Given the description of an element on the screen output the (x, y) to click on. 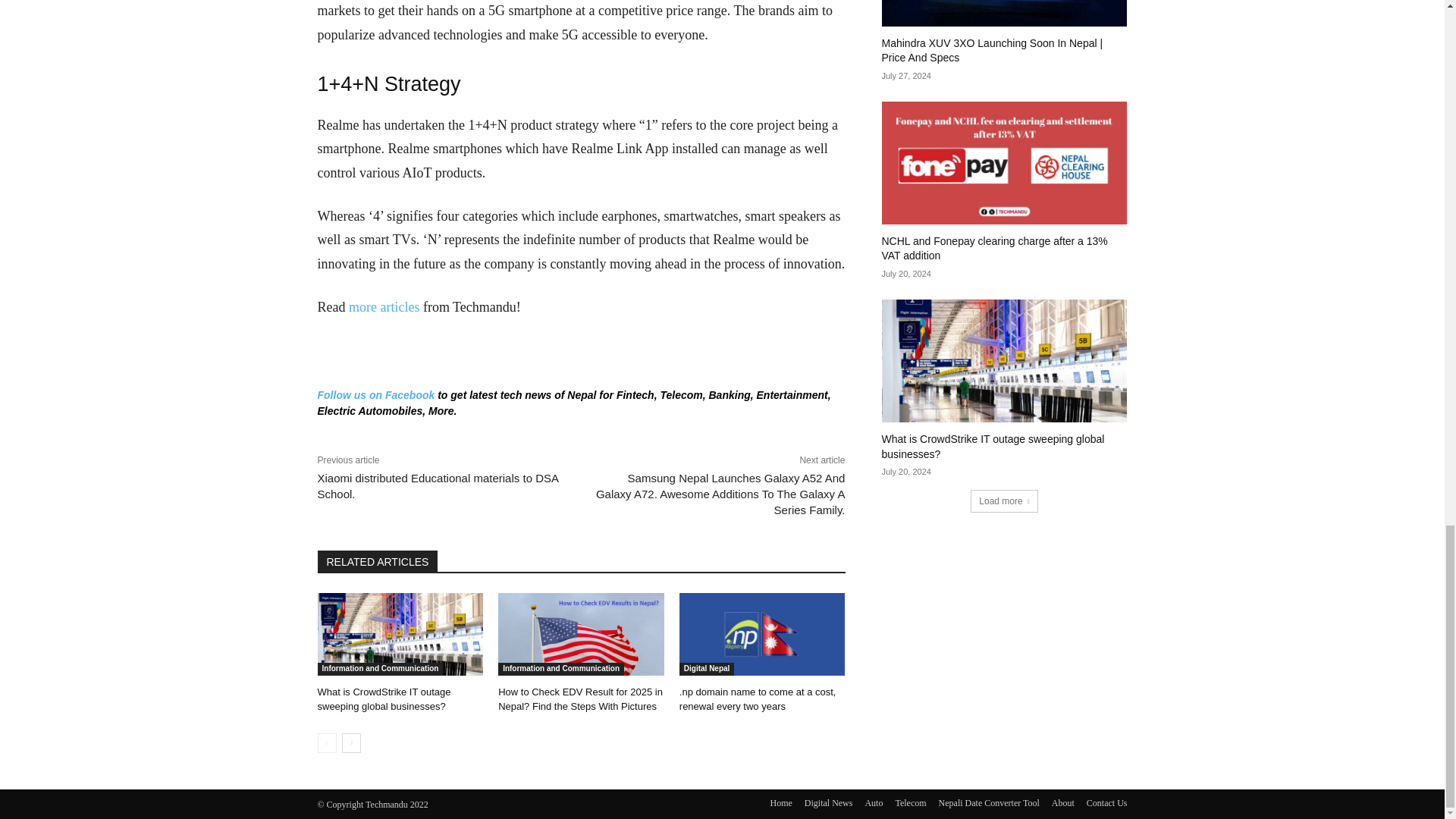
.np domain name to come at a cost, renewal every two years (757, 698)
.np domain name to come at a cost, renewal every two years (762, 633)
What is CrowdStrike IT outage sweeping global businesses? (400, 633)
What is CrowdStrike IT outage sweeping global businesses? (383, 698)
